Given the description of an element on the screen output the (x, y) to click on. 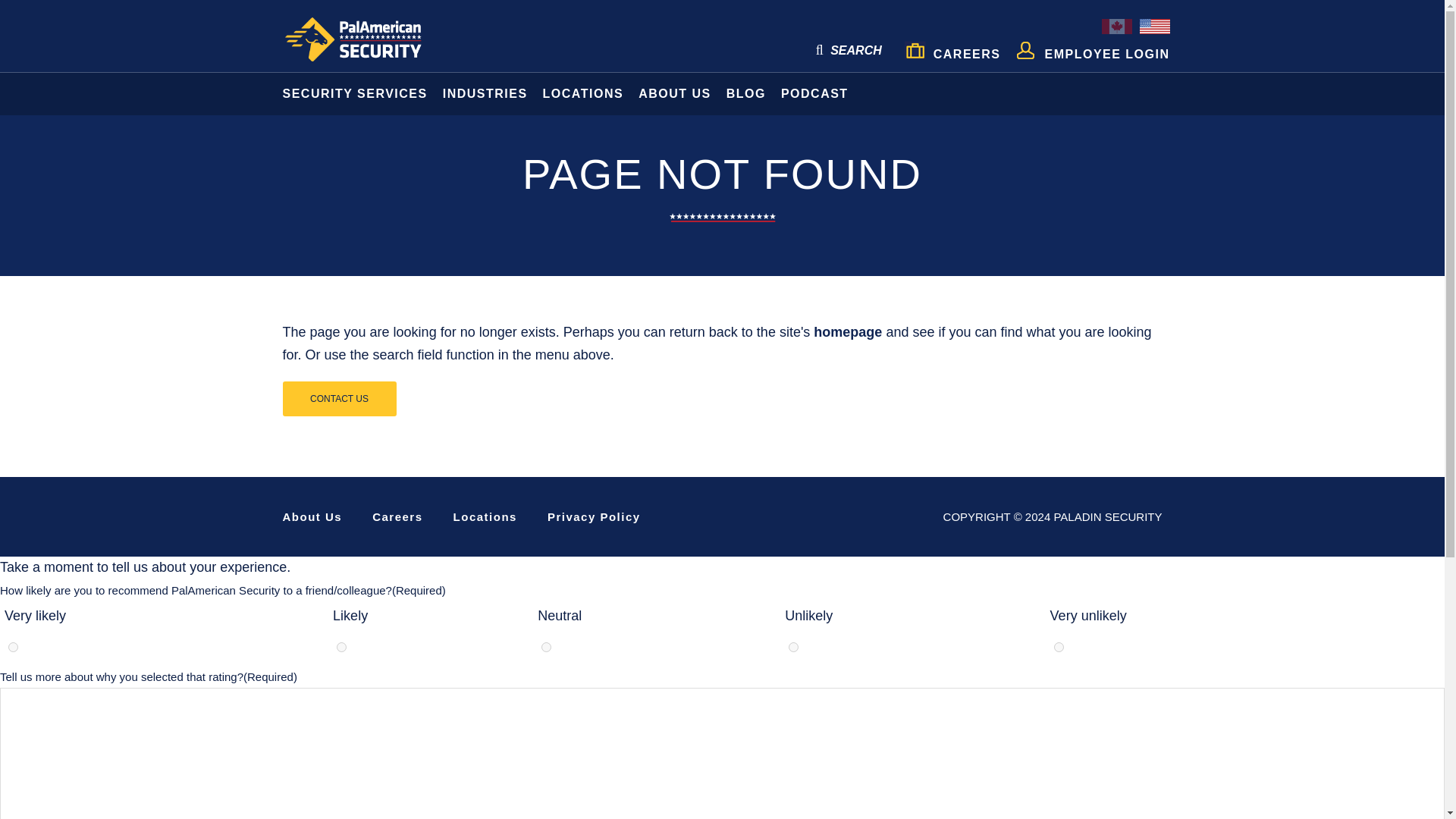
BLOG (746, 93)
PalAmerican Security (365, 39)
CONTACT US (339, 398)
SECURITY SERVICES (349, 93)
SEARCH (848, 50)
glikertcol17c32e89b (341, 646)
LOCATIONS (583, 93)
homepage (847, 331)
PODCAST (814, 93)
CAREERS (952, 49)
